Given the description of an element on the screen output the (x, y) to click on. 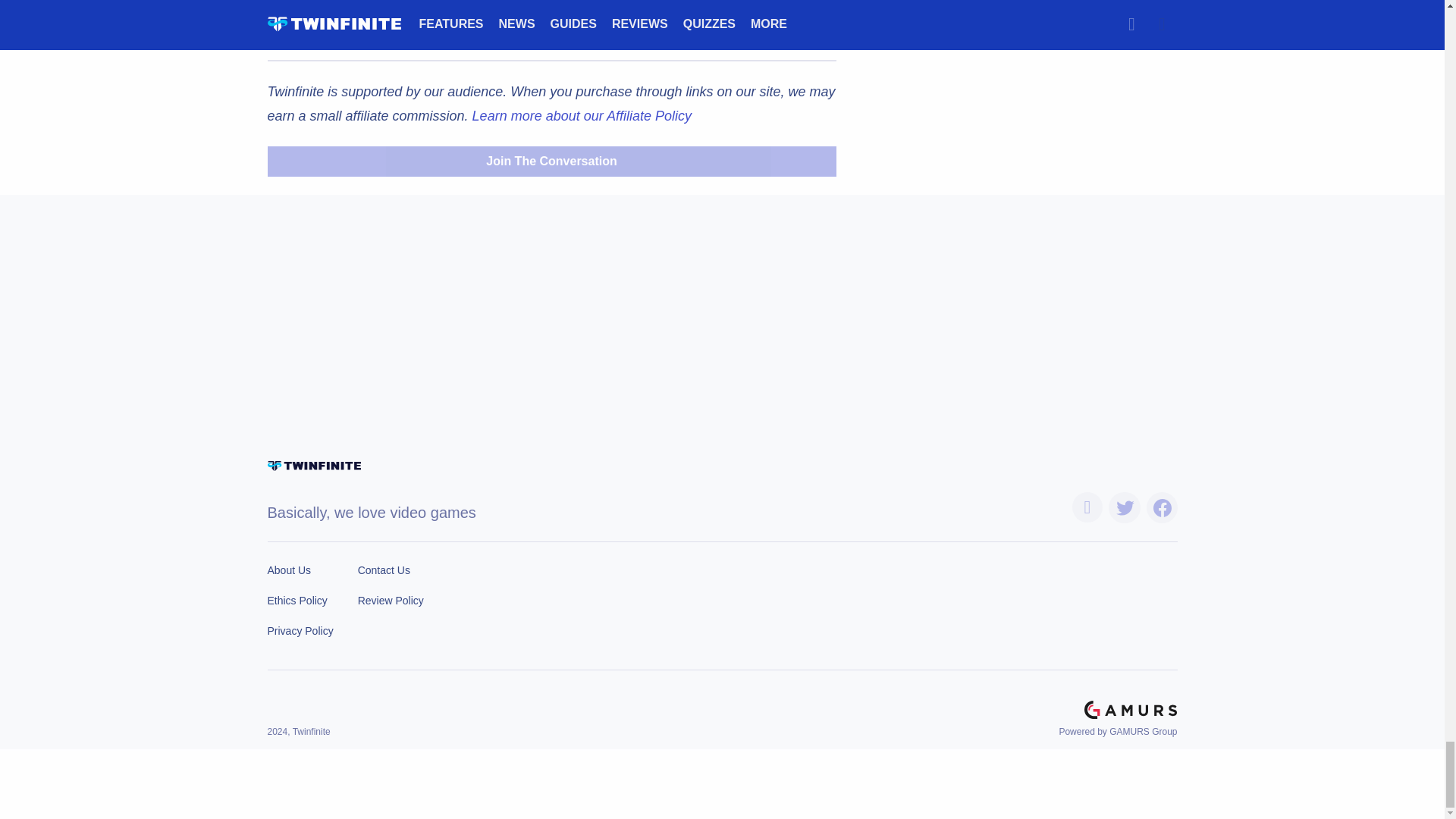
Join The Conversation (550, 161)
